Given the description of an element on the screen output the (x, y) to click on. 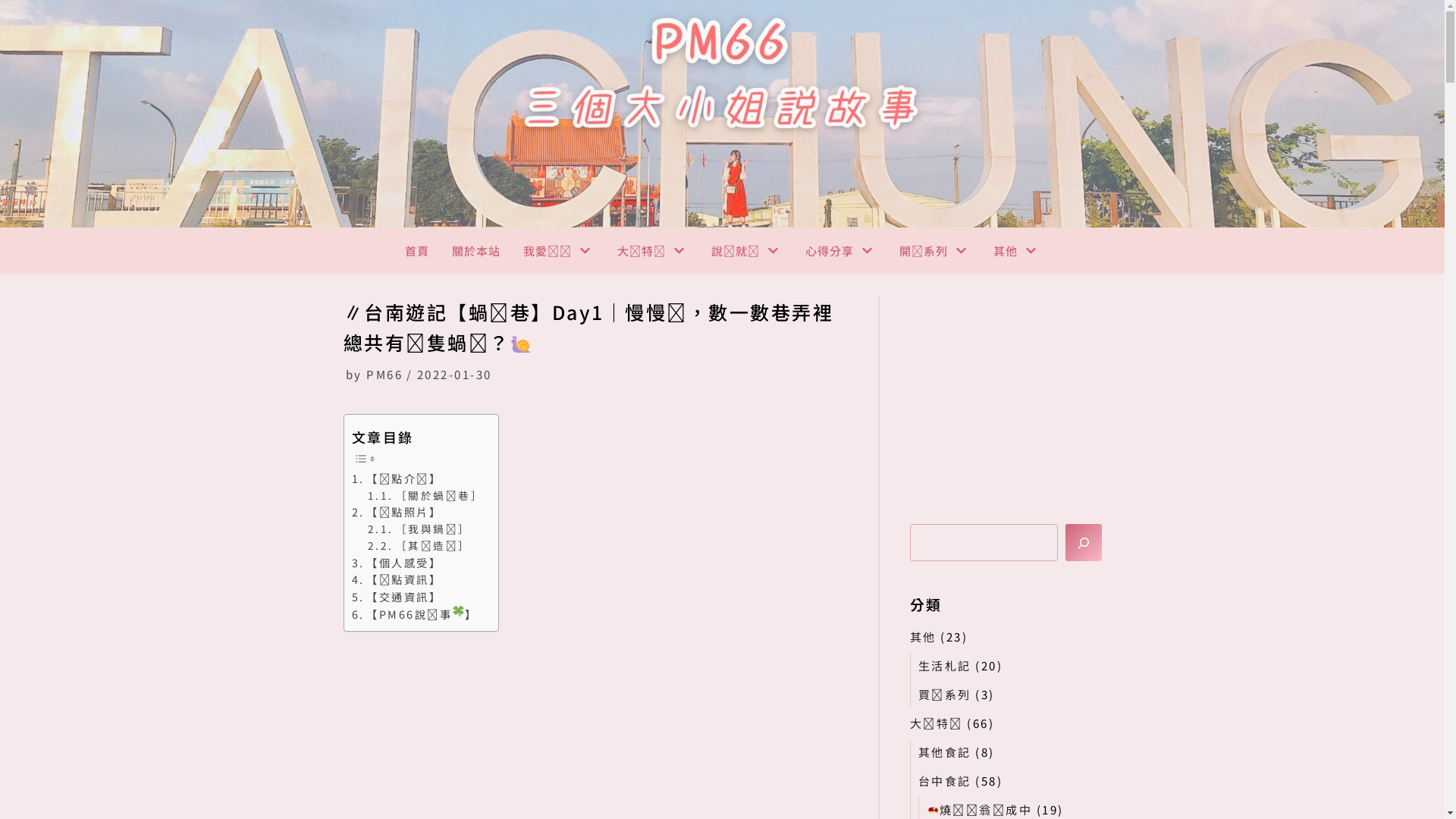
PM66 Element type: text (384, 374)
Advertisement Element type: hover (1023, 391)
Skip to content Element type: text (15, 31)
